Given the description of an element on the screen output the (x, y) to click on. 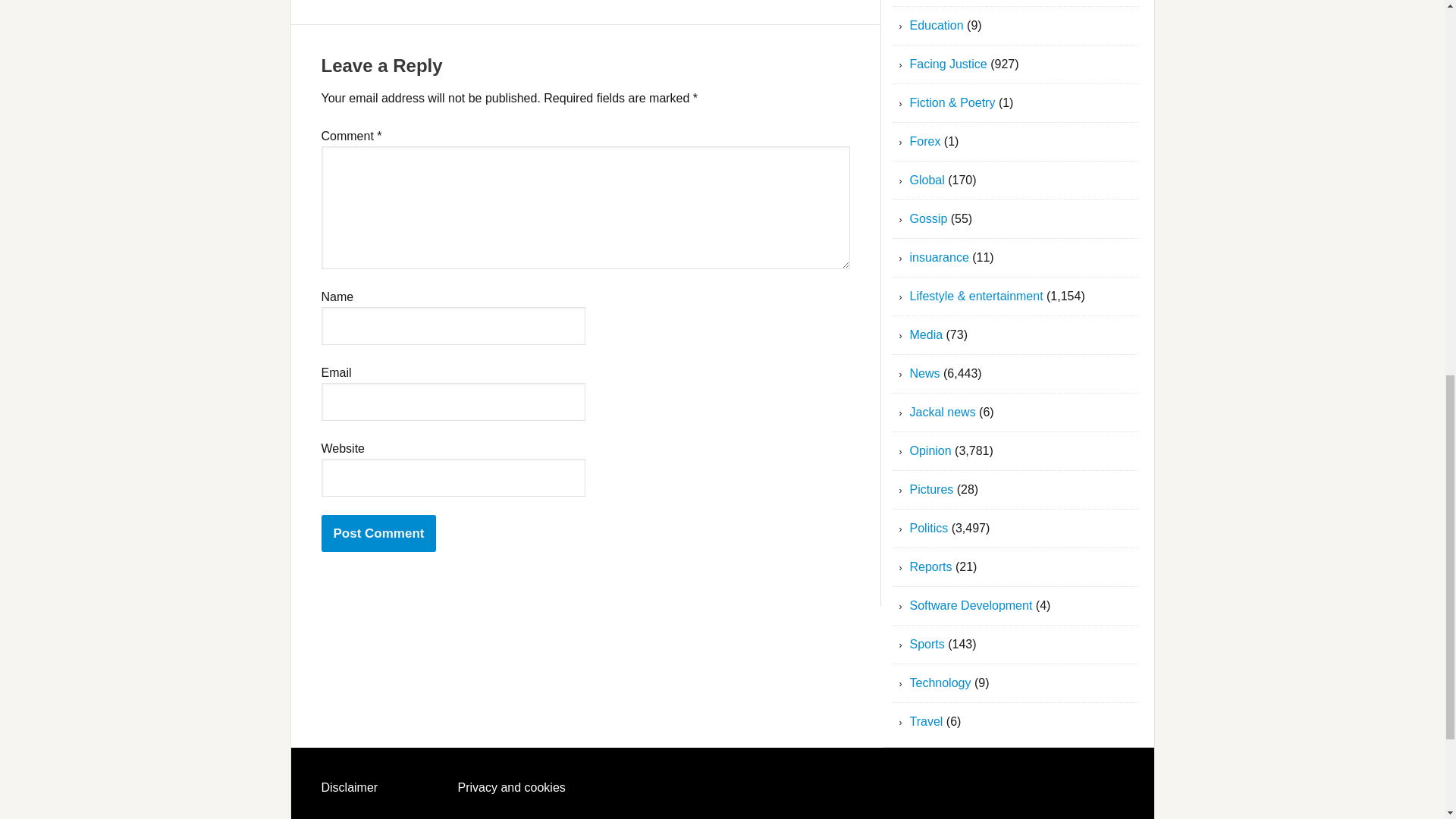
Jackal news (942, 411)
Post Comment (378, 533)
Education (936, 24)
Media (926, 334)
Opinion (931, 450)
Forex (925, 141)
News (925, 373)
Post Comment (378, 533)
Global (927, 179)
Pictures (931, 489)
Gossip (928, 218)
insuarance (939, 256)
Facing Justice (948, 63)
